Given the description of an element on the screen output the (x, y) to click on. 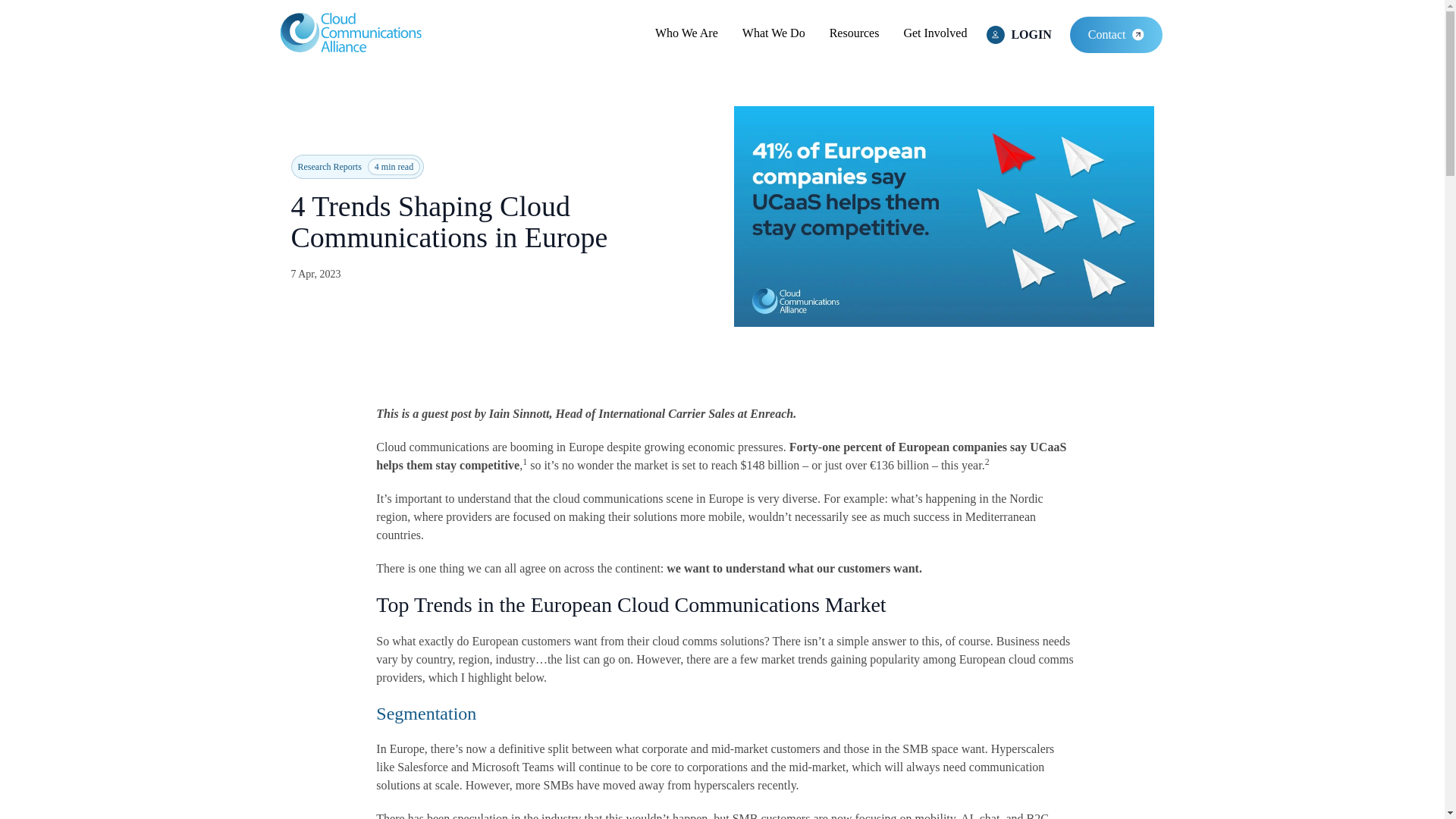
Who We Are (686, 32)
Resources (854, 32)
What We Do (773, 32)
Contact (1115, 34)
Get Involved (934, 32)
cca-logo (349, 32)
LOGIN (1019, 34)
